Given the description of an element on the screen output the (x, y) to click on. 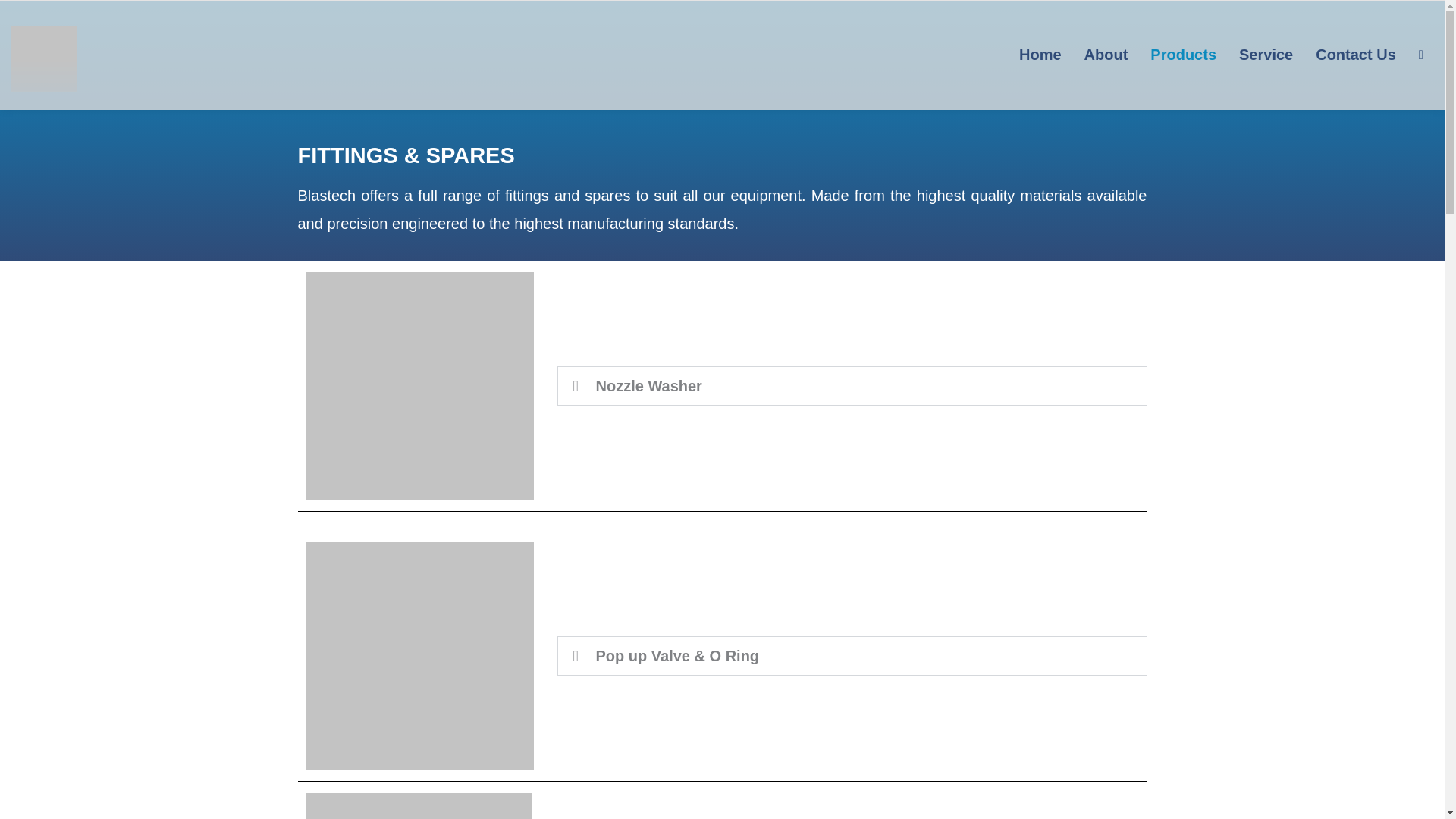
About (1106, 54)
Products (1182, 54)
Home (1040, 54)
